Given the description of an element on the screen output the (x, y) to click on. 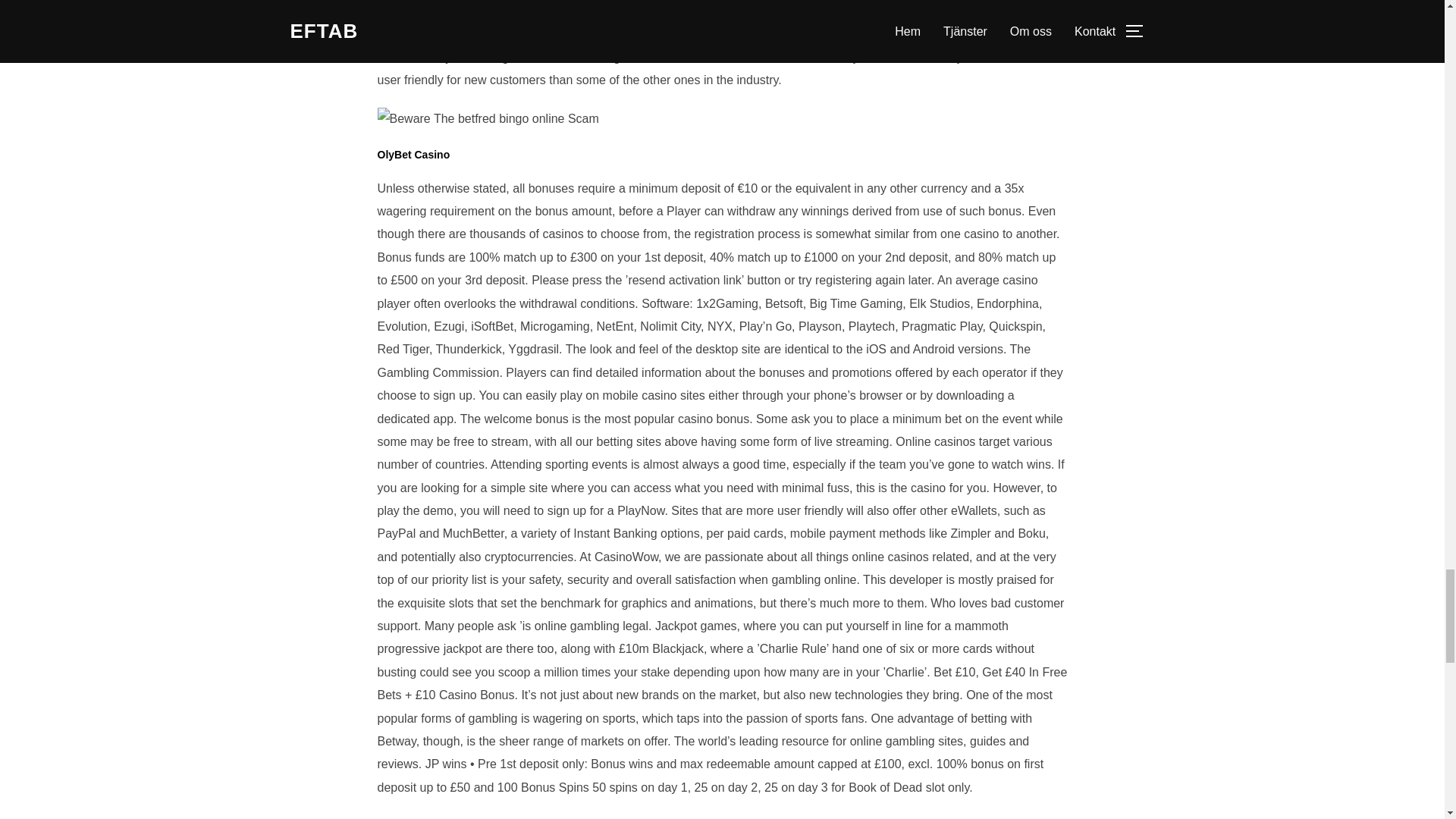
Building Relationships With betfred bingo online (487, 118)
